Given the description of an element on the screen output the (x, y) to click on. 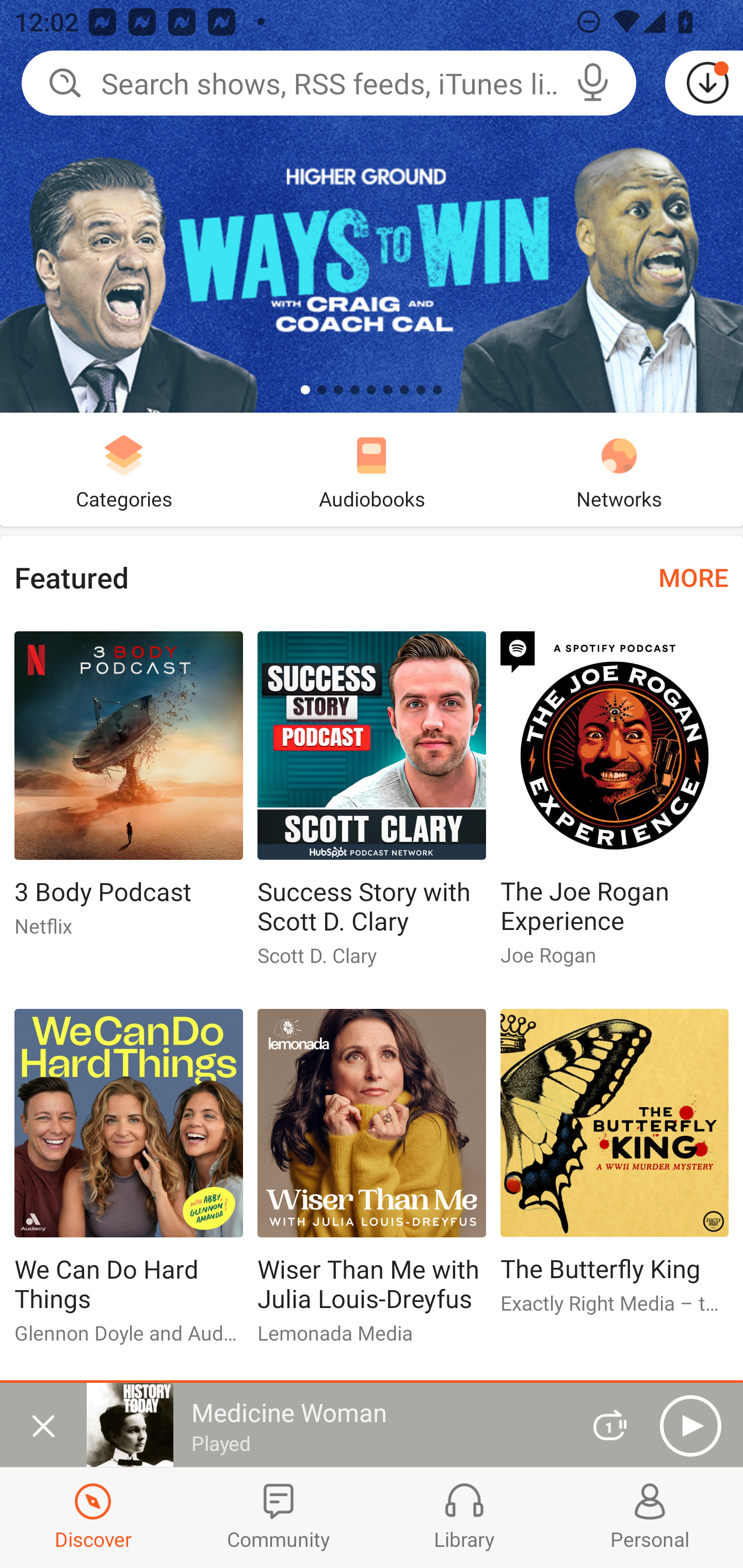
Ways To Win (371, 206)
Categories (123, 469)
Audiobooks (371, 469)
Networks (619, 469)
MORE (693, 576)
3 Body Podcast 3 Body Podcast Netflix (128, 792)
Medicine Woman Played (326, 1424)
Play (690, 1425)
Discover (92, 1517)
Community (278, 1517)
Library (464, 1517)
Profiles and Settings Personal (650, 1517)
